Given the description of an element on the screen output the (x, y) to click on. 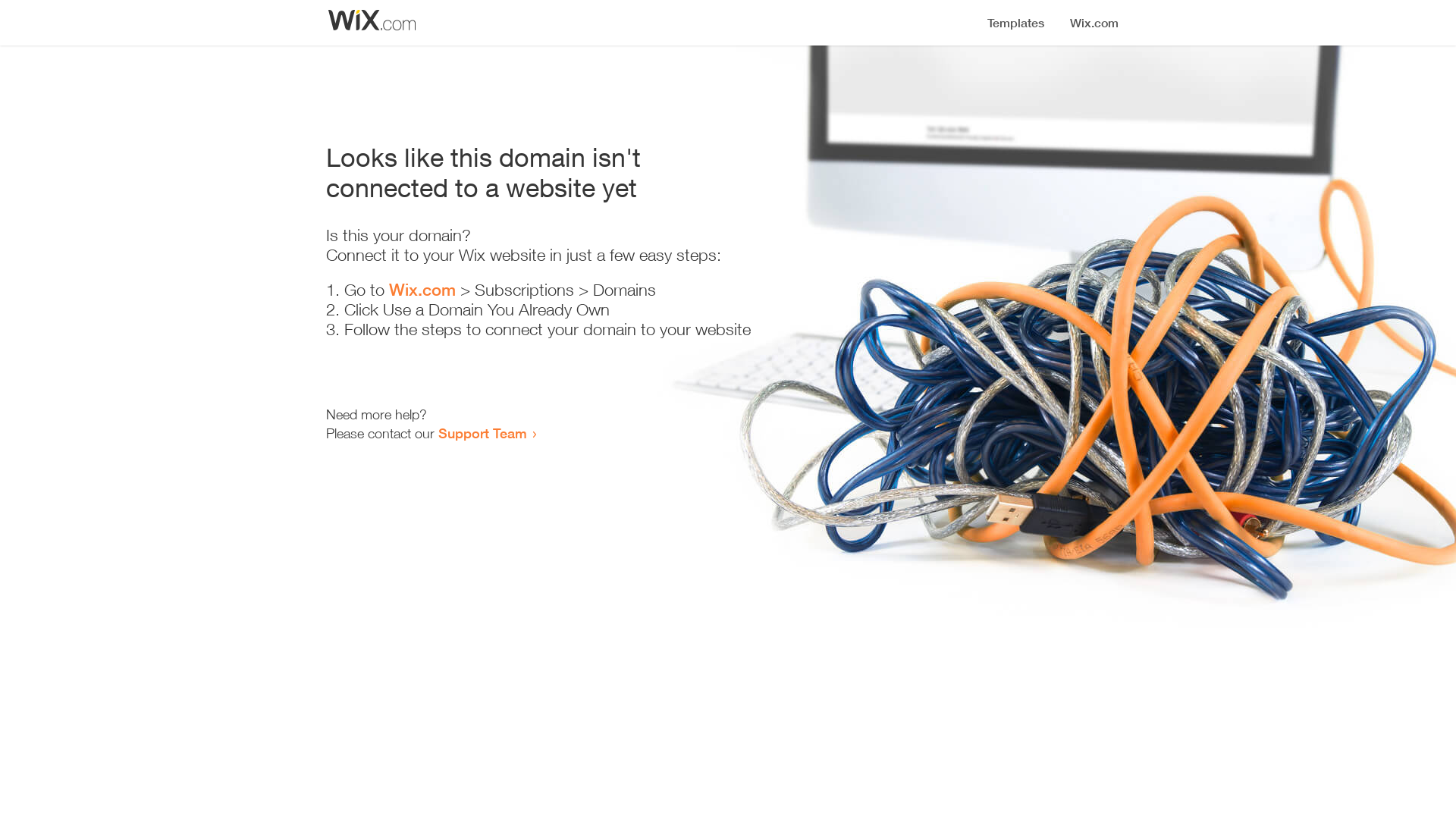
Support Team Element type: text (482, 432)
Wix.com Element type: text (422, 289)
